Given the description of an element on the screen output the (x, y) to click on. 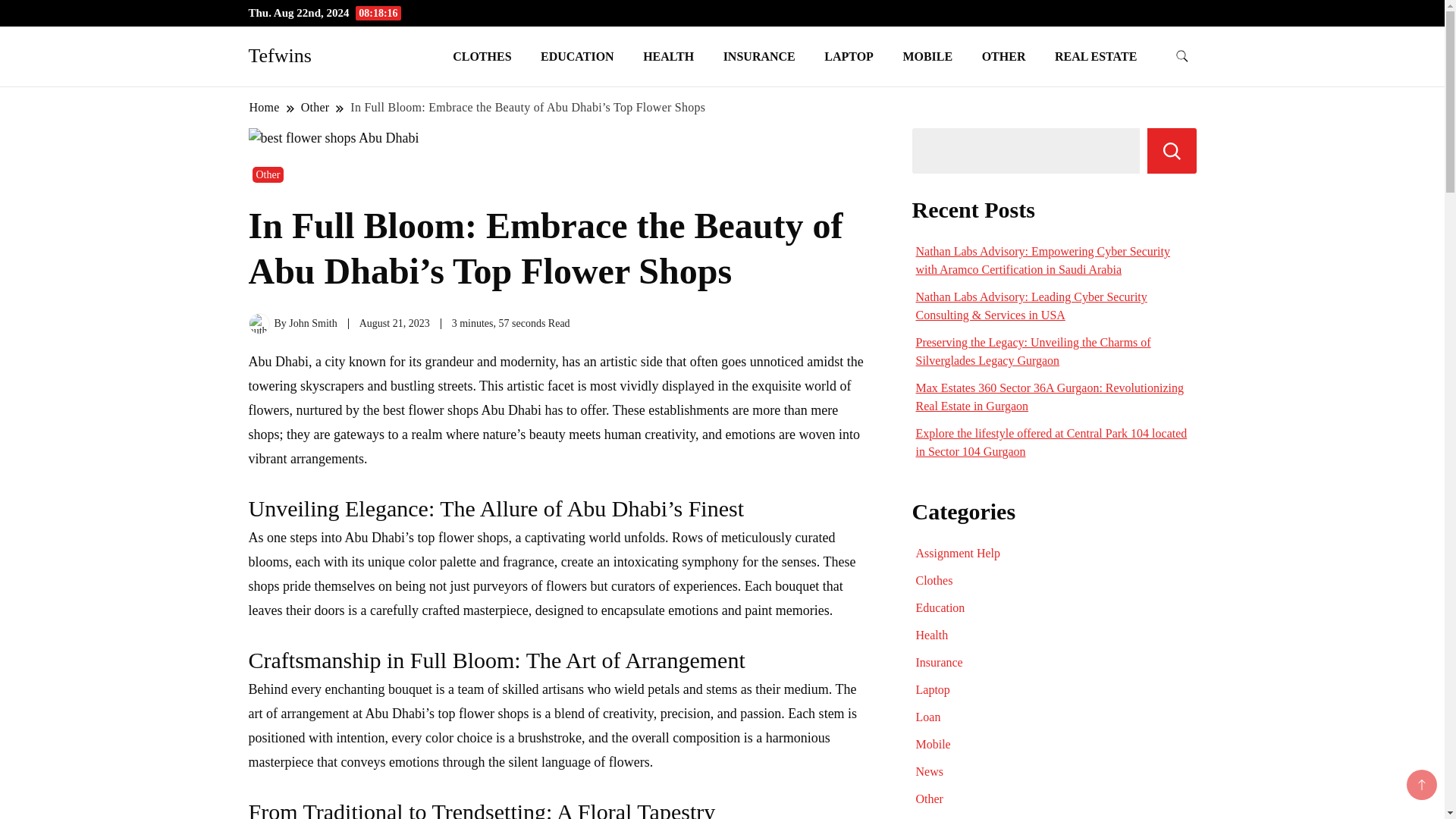
HEALTH (668, 56)
Home (264, 106)
Tefwins (279, 55)
REAL ESTATE (1096, 56)
John Smith (312, 323)
August 21, 2023 (394, 323)
MOBILE (927, 56)
Other (267, 174)
best flower shops Abu Dhabi (463, 409)
CLOTHES (481, 56)
